Given the description of an element on the screen output the (x, y) to click on. 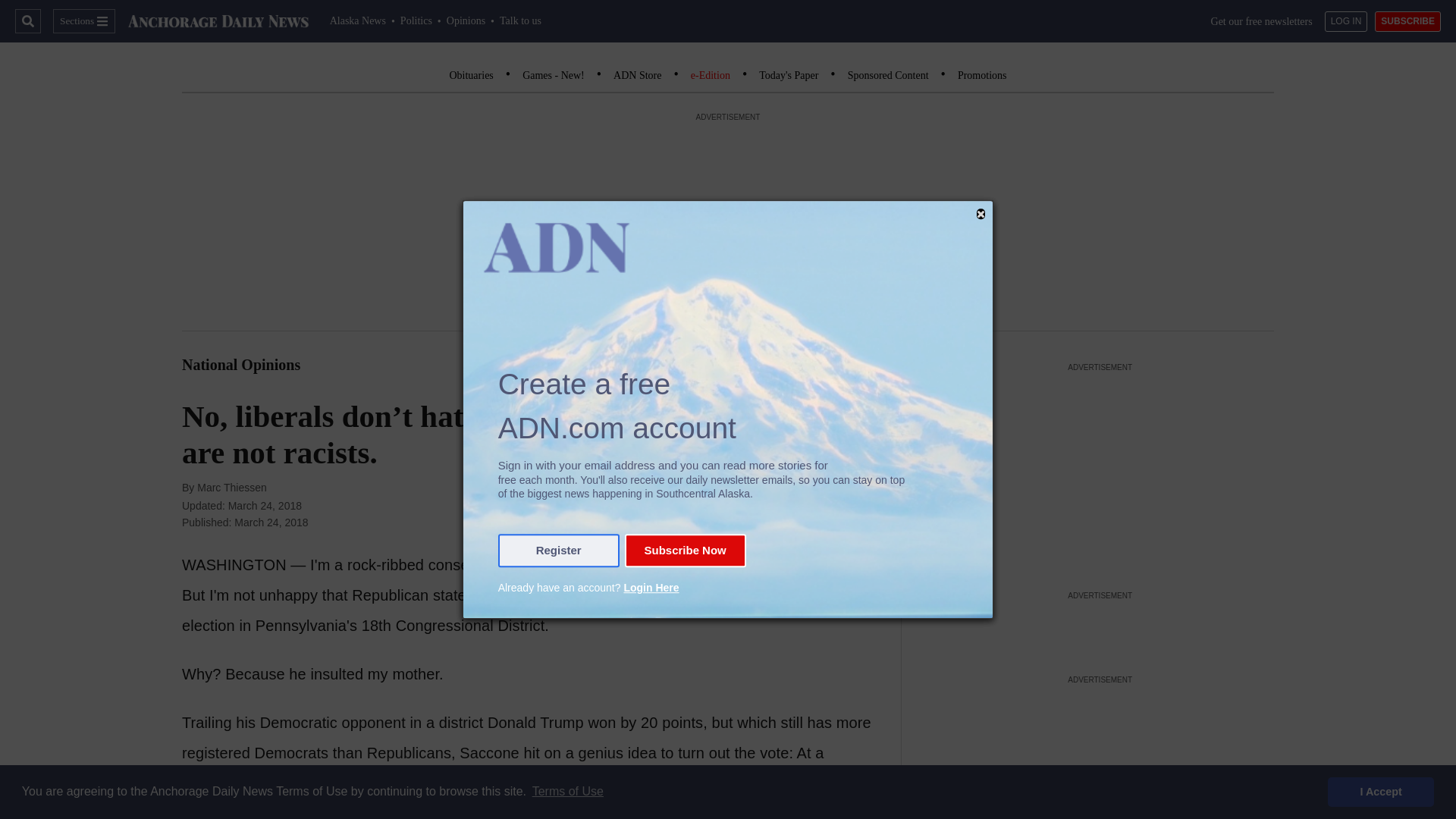
SUBSCRIBE (1407, 20)
I Accept (1380, 791)
3rd party ad content (1100, 753)
Opinions (465, 20)
Sections (83, 21)
3rd party ad content (1100, 627)
ADN Logo (218, 20)
Alaska News (357, 20)
Subscribe Now (684, 549)
Politics (416, 20)
3rd party ad content (1100, 470)
Get our free newsletters (1262, 21)
LOG IN (1346, 20)
Terms of Use (567, 791)
